Given the description of an element on the screen output the (x, y) to click on. 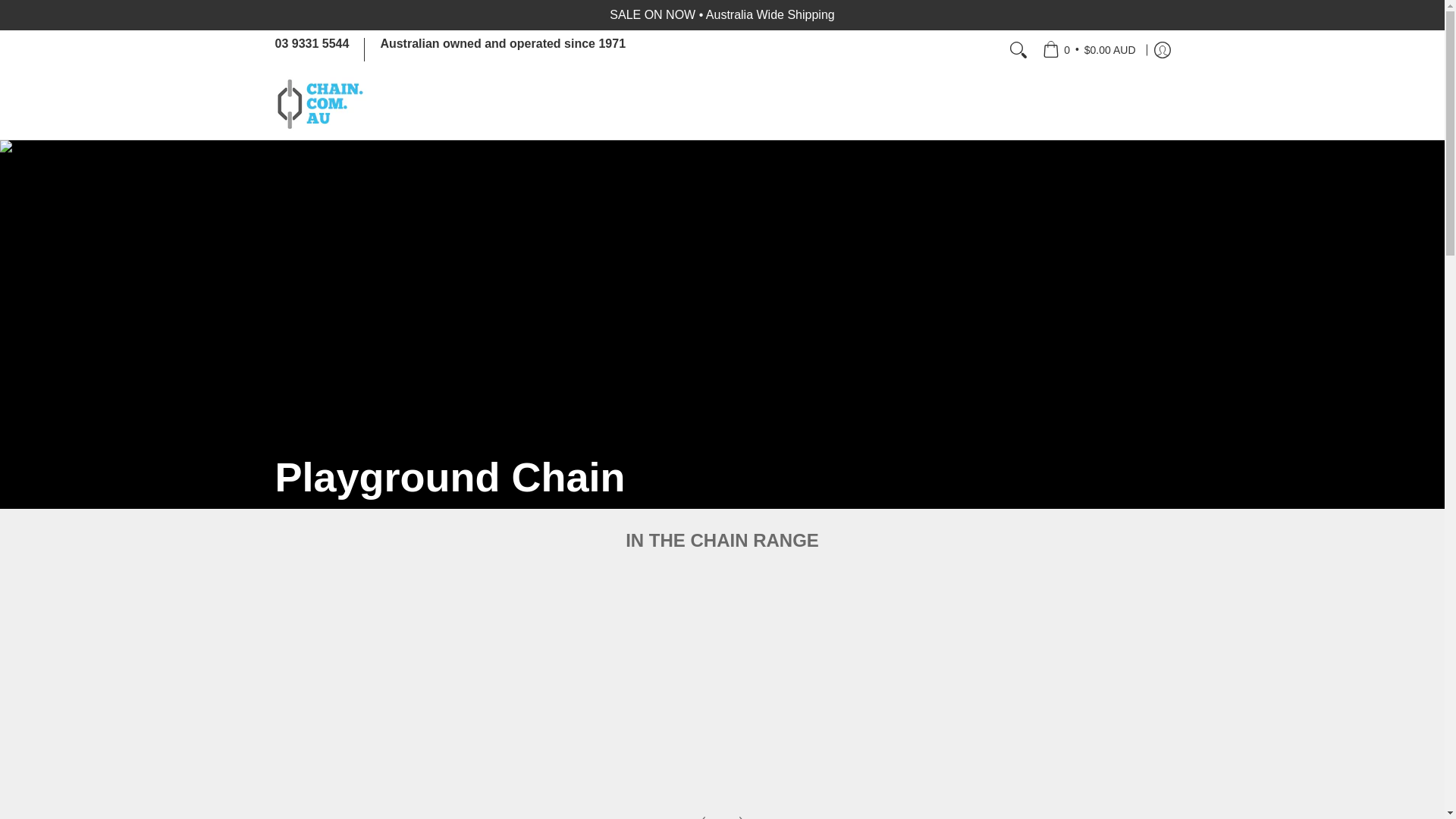
Search (1018, 49)
Cart (1088, 49)
Log in (1161, 49)
Chain.com.au (320, 103)
Skip to Main Content (1, 8)
Skip to Main Content (1, 8)
